Given the description of an element on the screen output the (x, y) to click on. 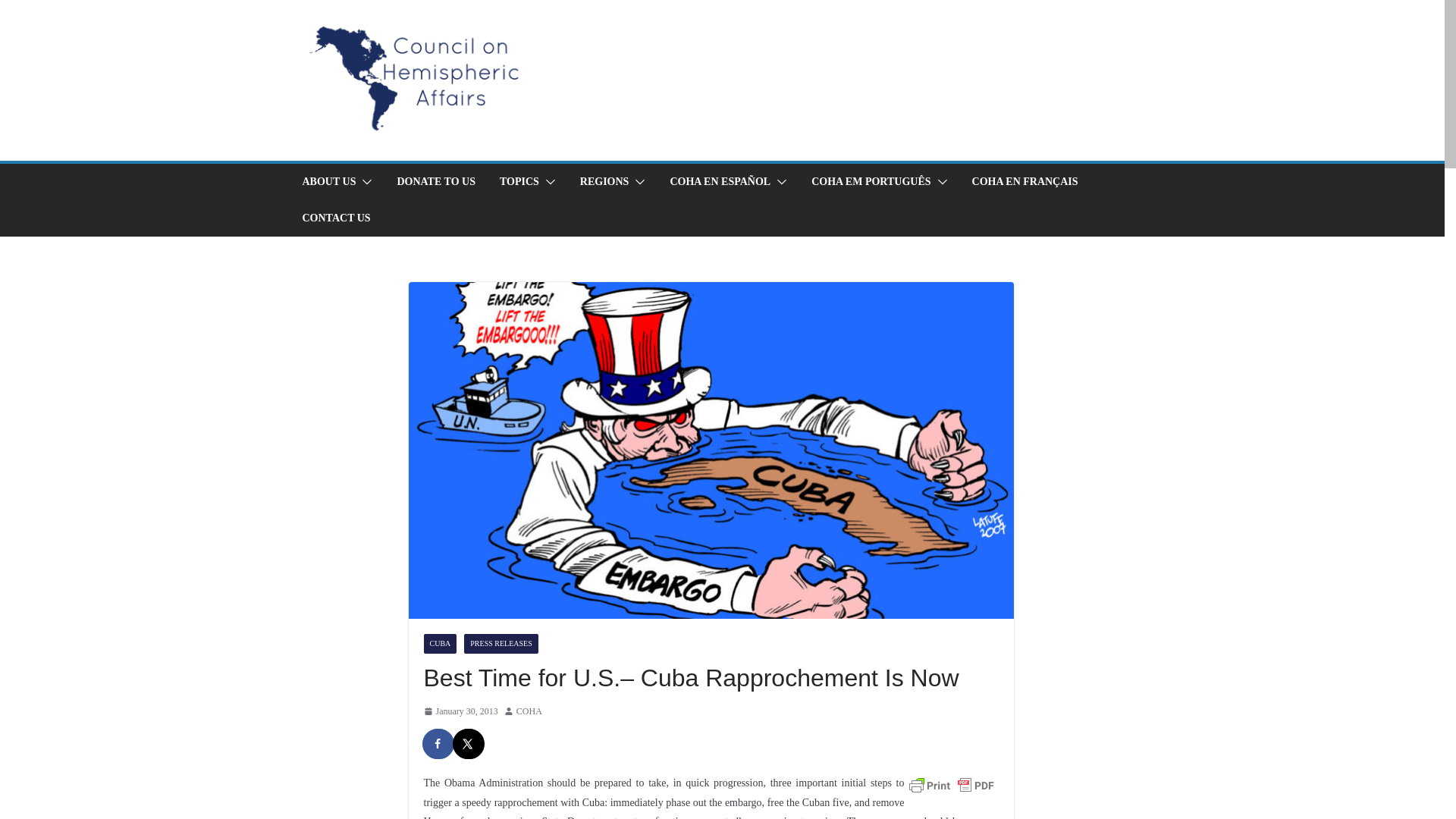
ABOUT US (328, 181)
COHA (528, 711)
TOPICS (518, 181)
REGIONS (603, 181)
DONATE TO US (435, 181)
Share on Facebook (437, 743)
3:48 pm (460, 711)
Share on X (467, 743)
